Given the description of an element on the screen output the (x, y) to click on. 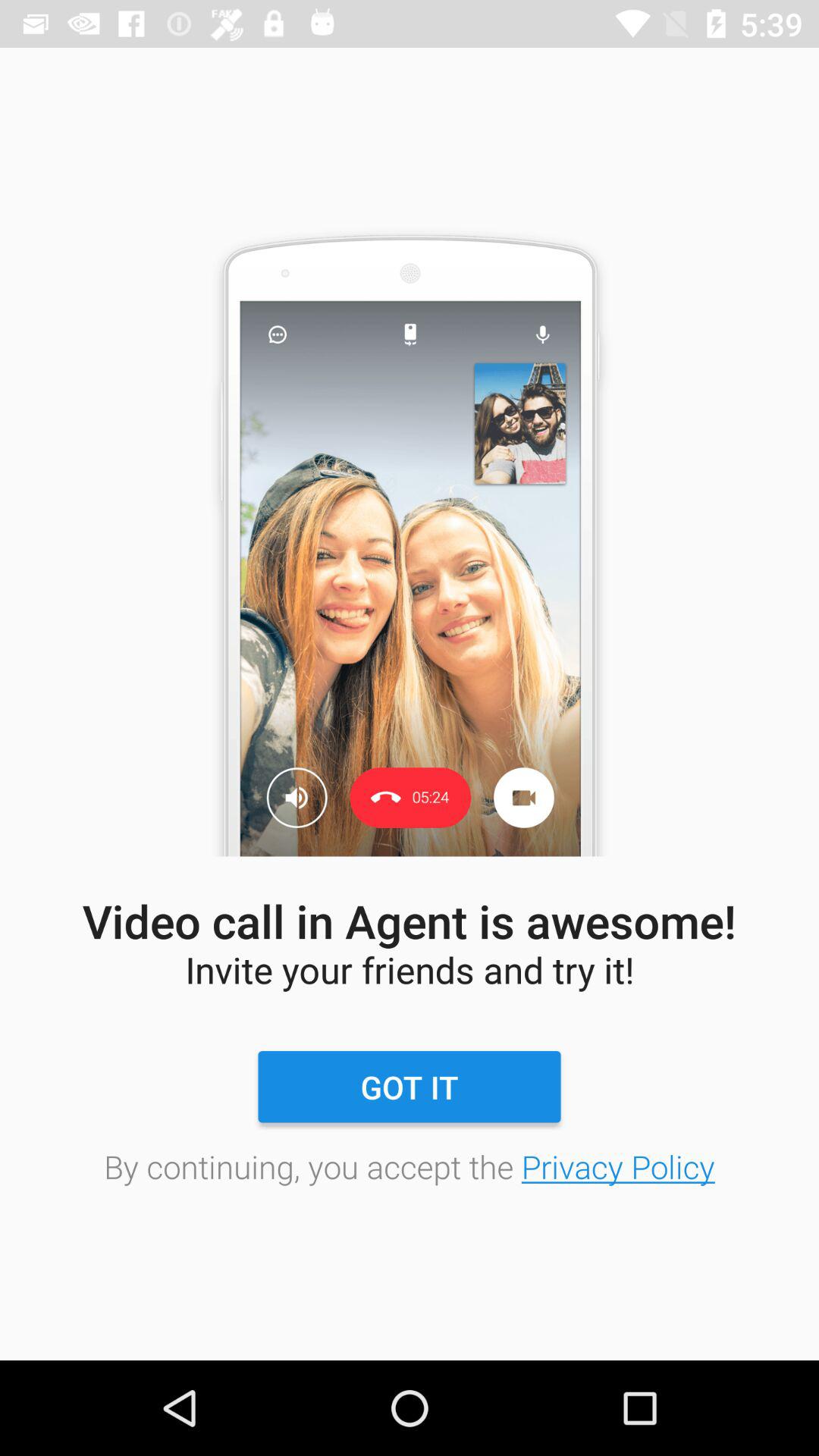
press the by continuing you icon (409, 1166)
